Given the description of an element on the screen output the (x, y) to click on. 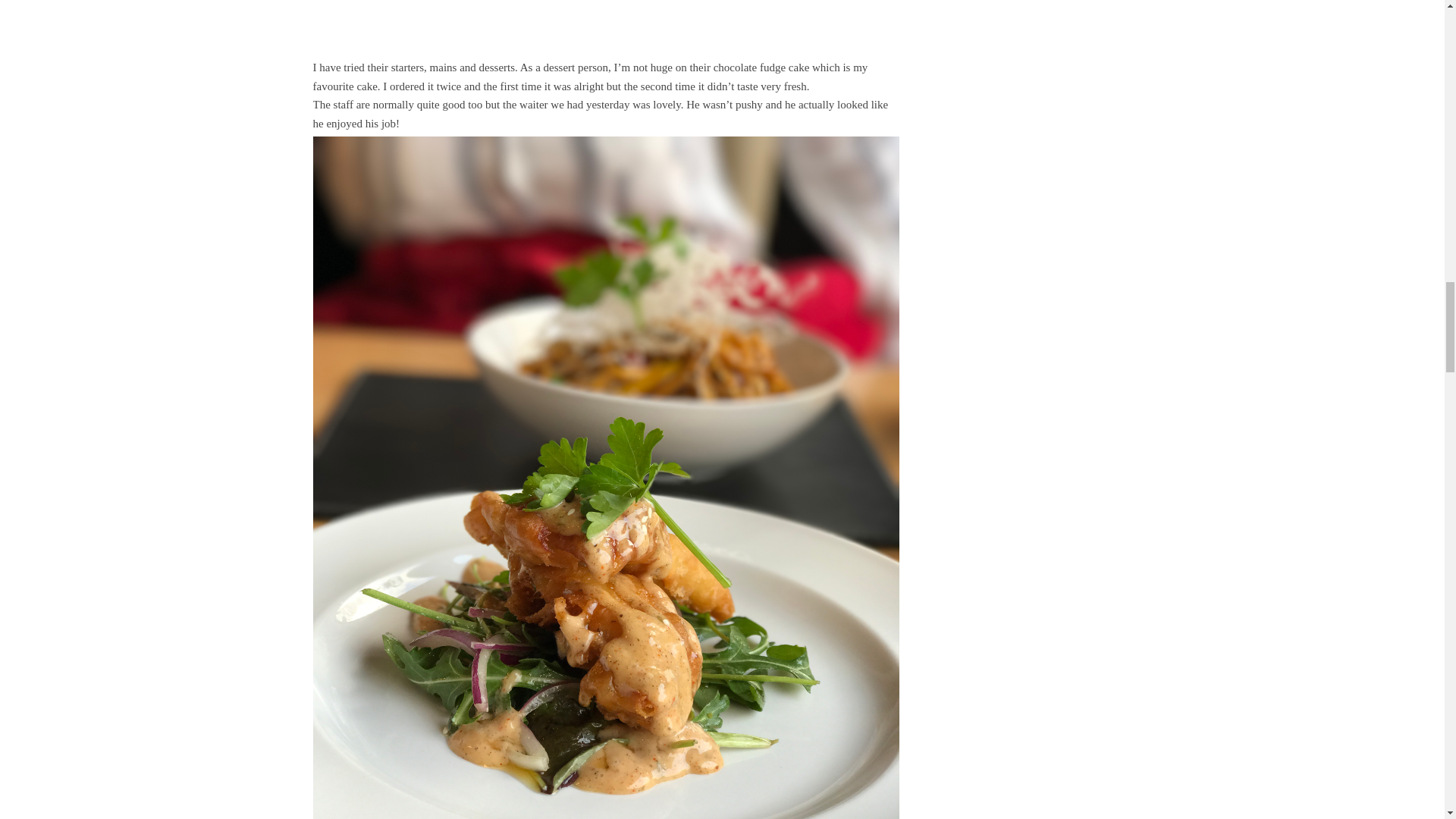
Advertisement (605, 19)
